Given the description of an element on the screen output the (x, y) to click on. 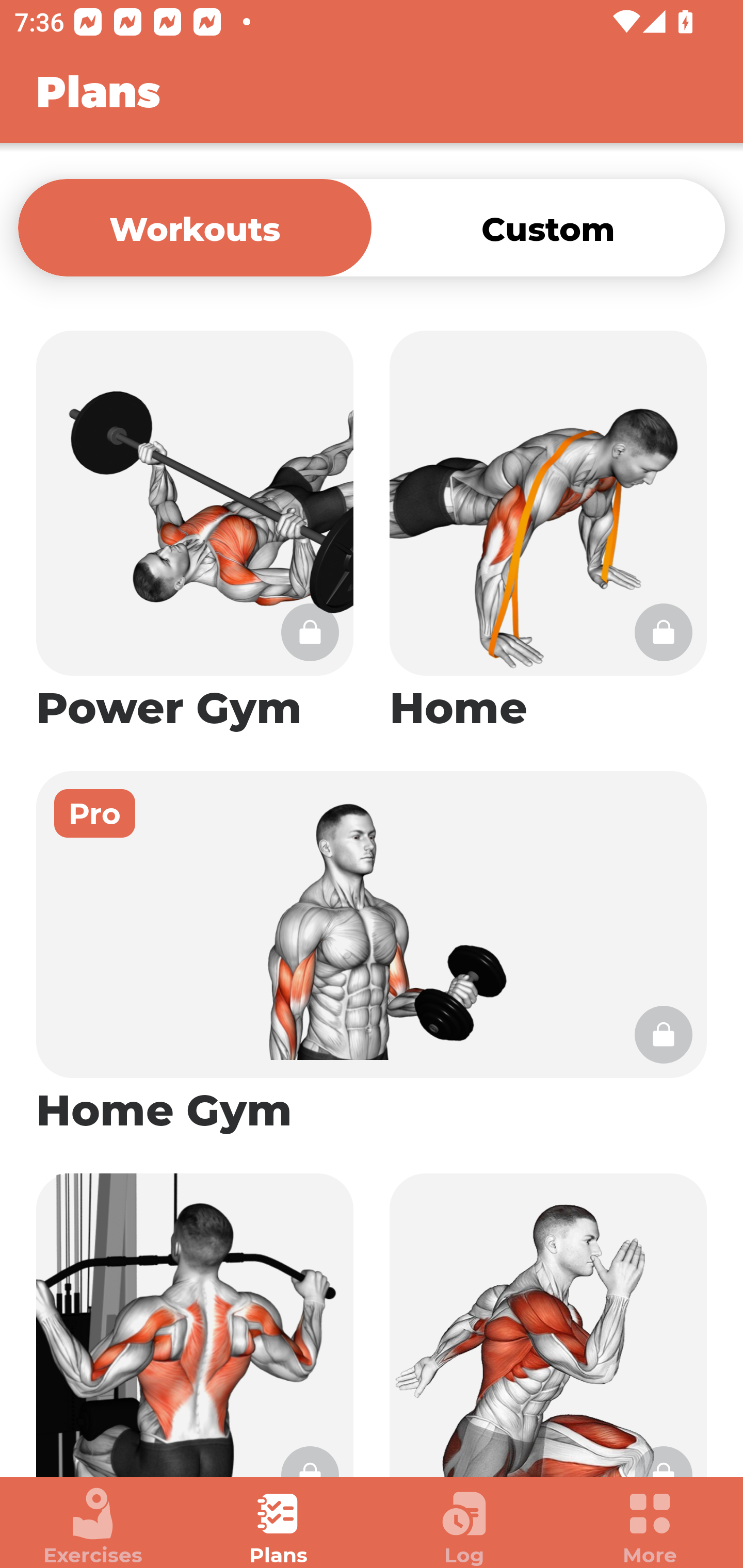
Workouts (194, 226)
Custom (548, 226)
Power Gym (194, 532)
Home (548, 532)
Pro Home Gym (371, 953)
Exercises (92, 1527)
Plans (278, 1527)
Log (464, 1527)
More (650, 1527)
